Given the description of an element on the screen output the (x, y) to click on. 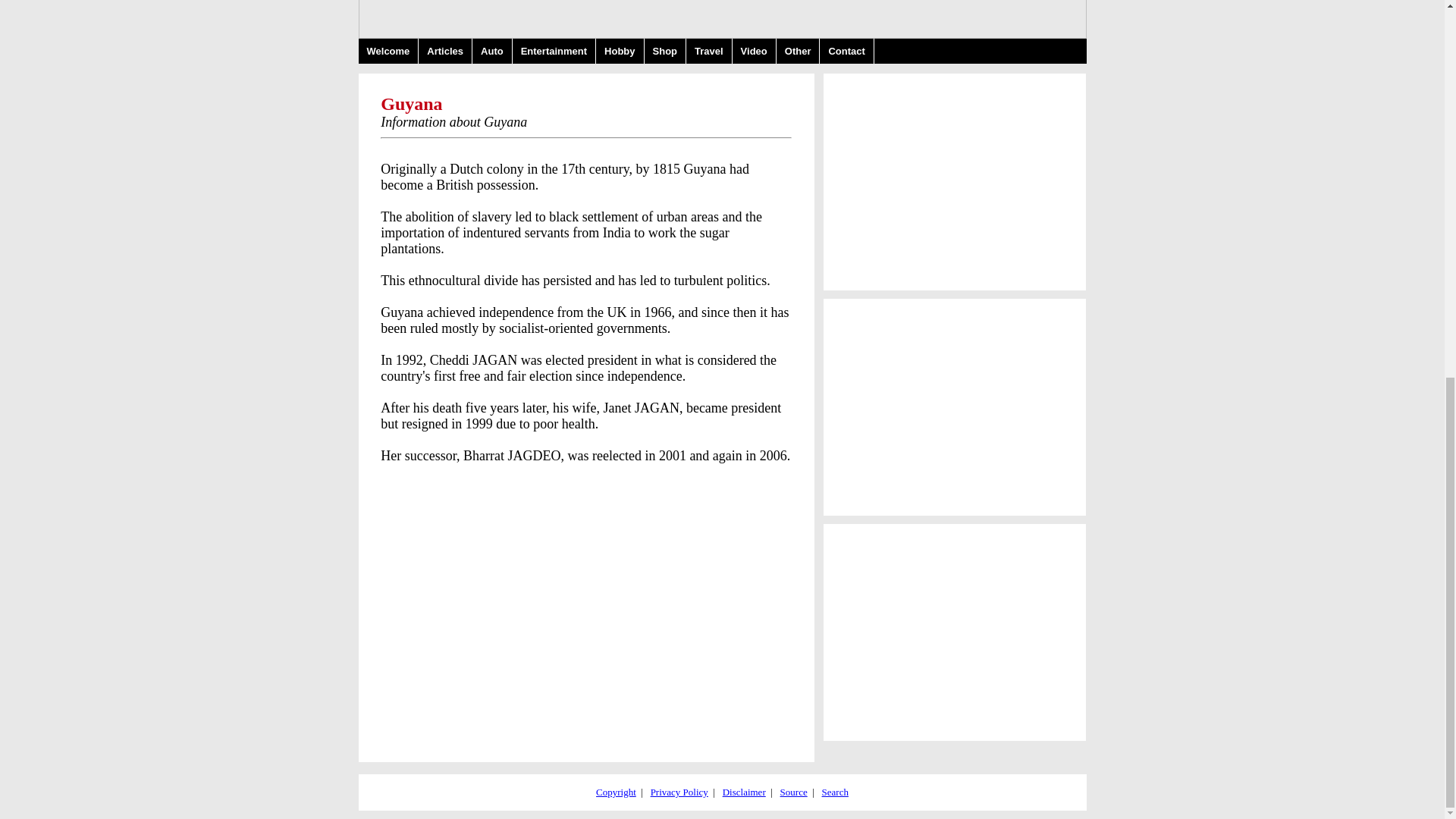
Shop (666, 50)
Copyright (615, 791)
Articles (445, 50)
Entertainment (553, 50)
Search (835, 791)
Auto (491, 50)
Hobby (619, 50)
Welcome (388, 50)
Video (754, 50)
Travel (708, 50)
Contact (846, 50)
Other (798, 50)
Disclaimer (743, 791)
Privacy Policy (678, 791)
Research Maniacs Banner (722, 19)
